Given the description of an element on the screen output the (x, y) to click on. 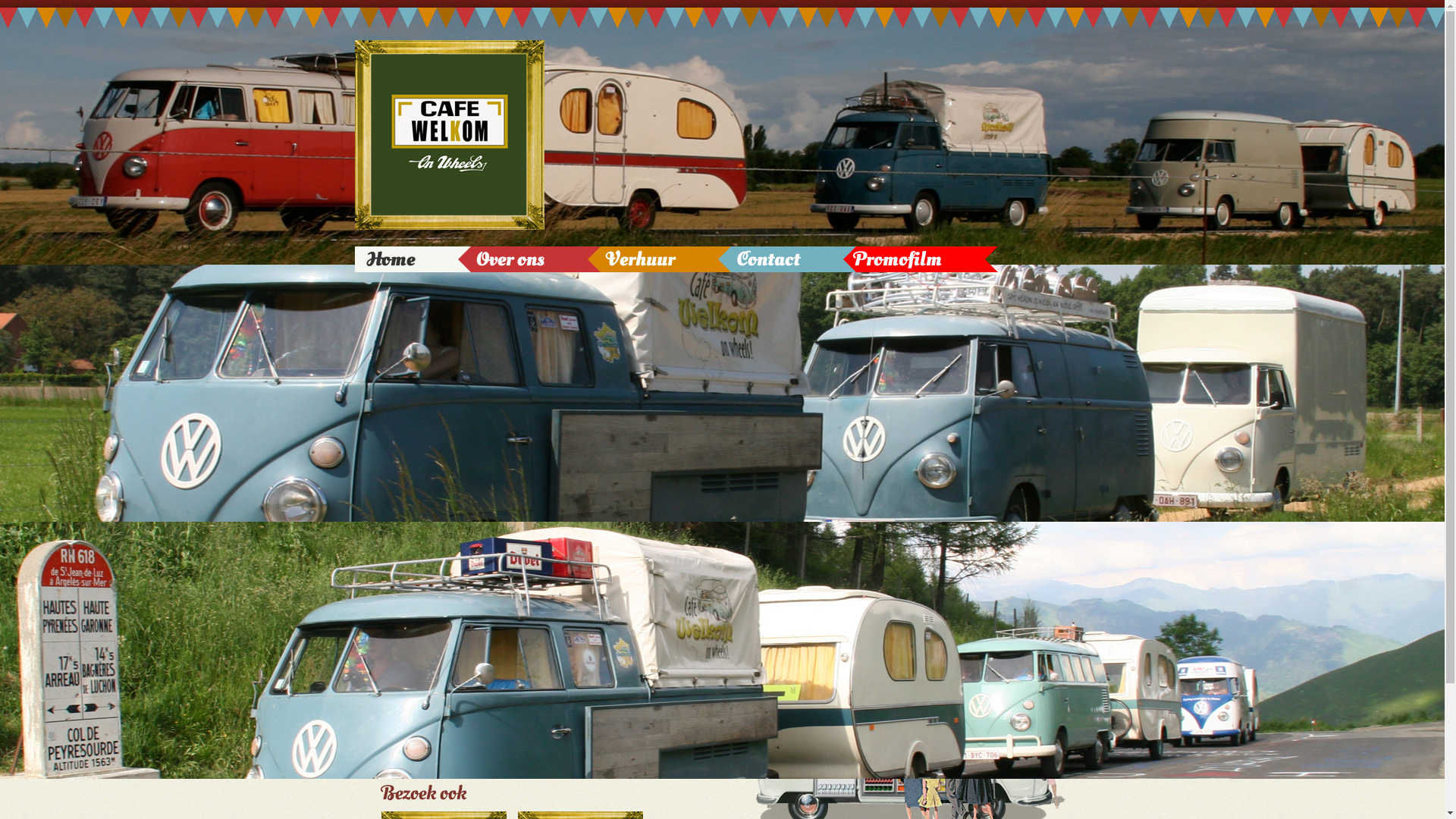
"EUGENE" VW Pick Up Doka 1966 Element type: text (905, 359)
"ORVAL 31" VW T2 Westfalia Berlin 1975 Automatic Element type: text (784, 366)
Contact Element type: text (786, 259)
Bekijk ons volledige aanbod Element type: text (1019, 537)
"BICKY" VW Kemperink 1967 Element type: text (1025, 359)
Ontdek ons aanbod VW busjes Element type: text (525, 311)
Home Element type: text (412, 259)
Verhuur Element type: text (658, 259)
Vragen over het verhuur van de busjes? Element type: text (525, 705)
Over ons Element type: text (527, 259)
Promofilm Element type: text (919, 259)
